Given the description of an element on the screen output the (x, y) to click on. 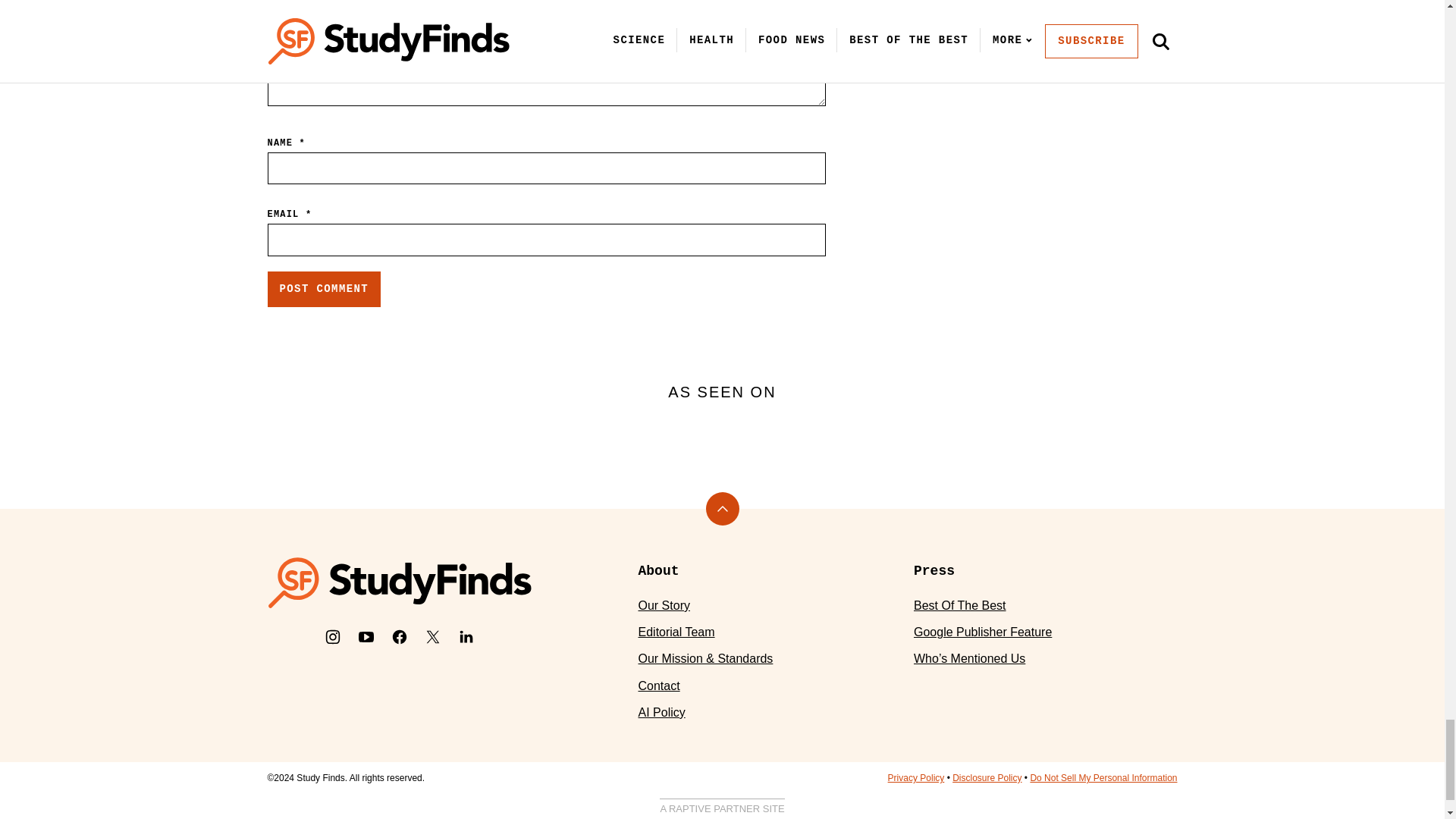
Post Comment (323, 289)
